Given the description of an element on the screen output the (x, y) to click on. 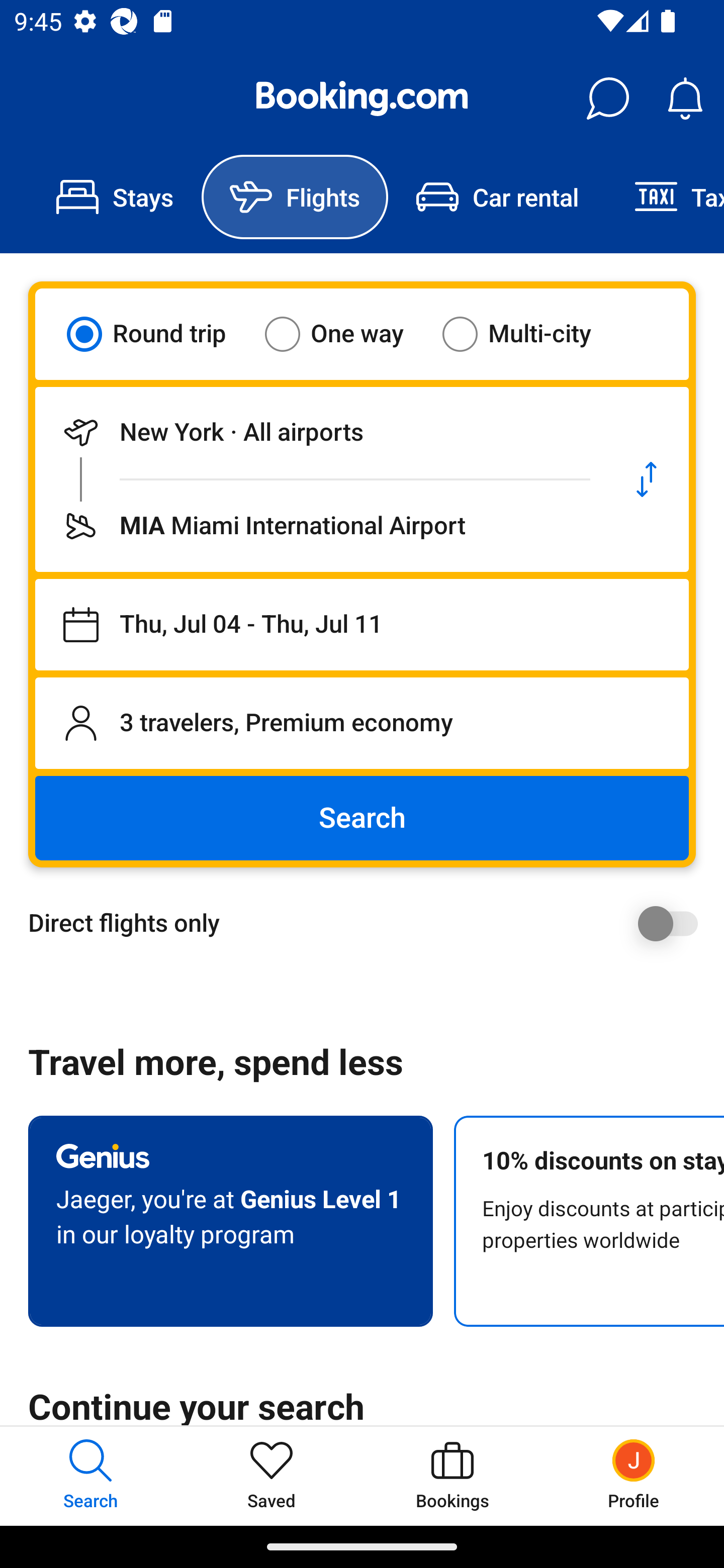
Messages (607, 98)
Notifications (685, 98)
Stays (114, 197)
Flights (294, 197)
Car rental (497, 197)
Taxi (665, 197)
One way (346, 333)
Multi-city (528, 333)
Departing from New York · All airports (319, 432)
Swap departure location and destination (646, 479)
Flying to MIA Miami International Airport (319, 525)
Departing on Thu, Jul 04, returning on Thu, Jul 11 (361, 624)
3 travelers, Premium economy (361, 722)
Search (361, 818)
Direct flights only (369, 923)
Saved (271, 1475)
Bookings (452, 1475)
Profile (633, 1475)
